Given the description of an element on the screen output the (x, y) to click on. 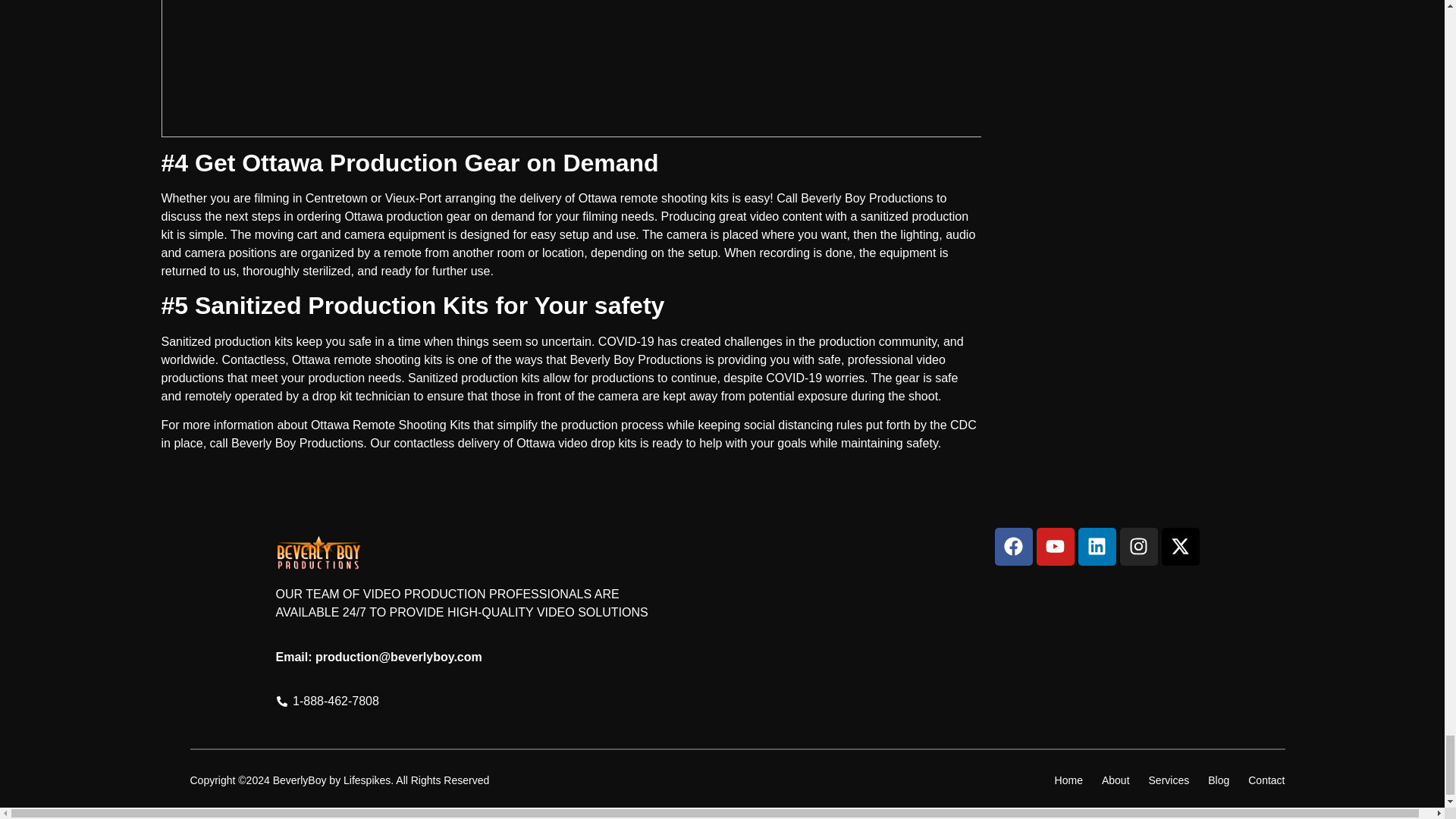
camera equipment (394, 234)
Beverly Boy Productions. (298, 442)
